Given the description of an element on the screen output the (x, y) to click on. 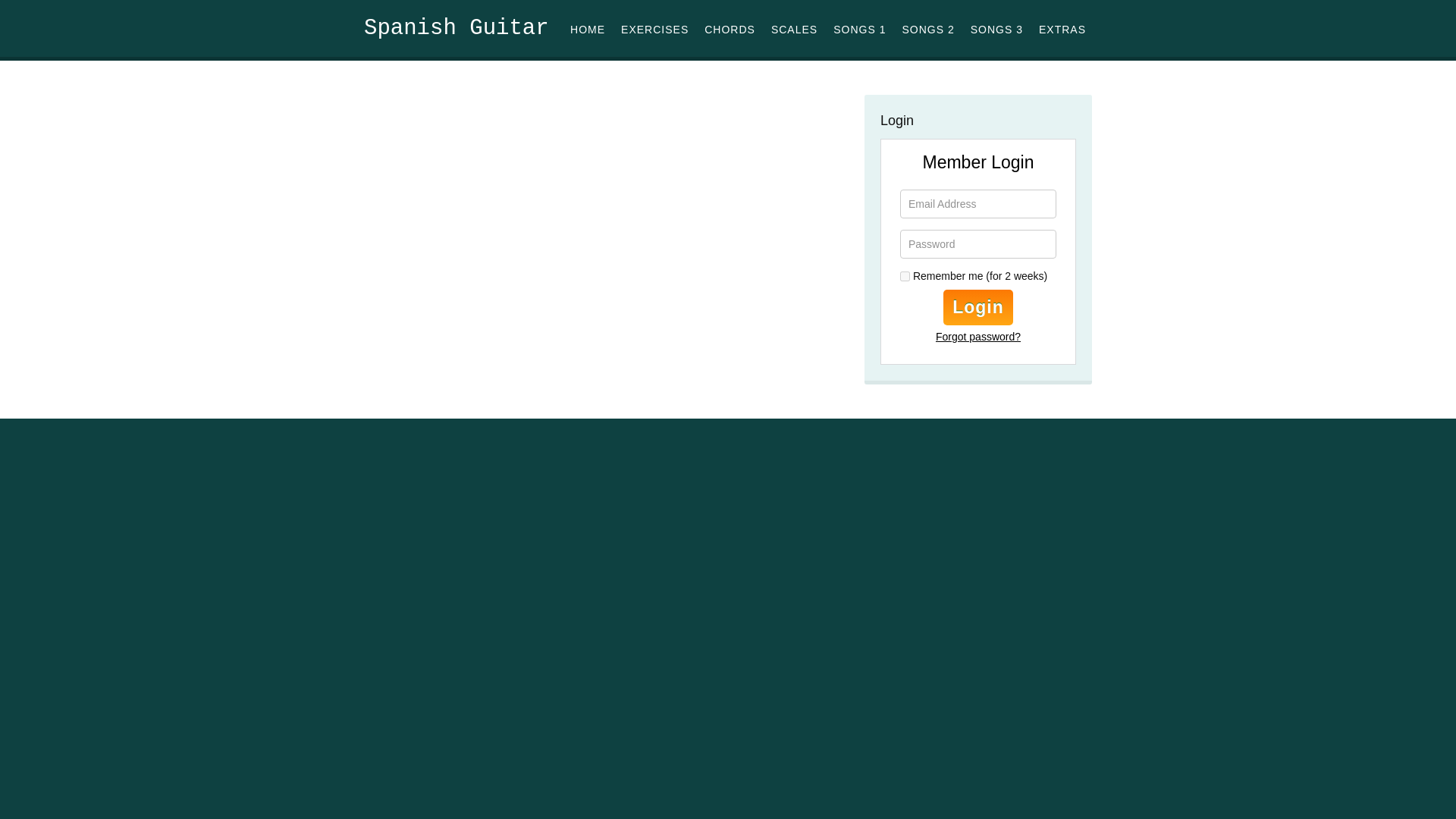
EXERCISES (654, 29)
CHORDS (729, 29)
Spanish Guitar (456, 27)
SCALES (794, 29)
HOME (587, 29)
rememberMe (904, 276)
SONGS 1 (859, 29)
